Given the description of an element on the screen output the (x, y) to click on. 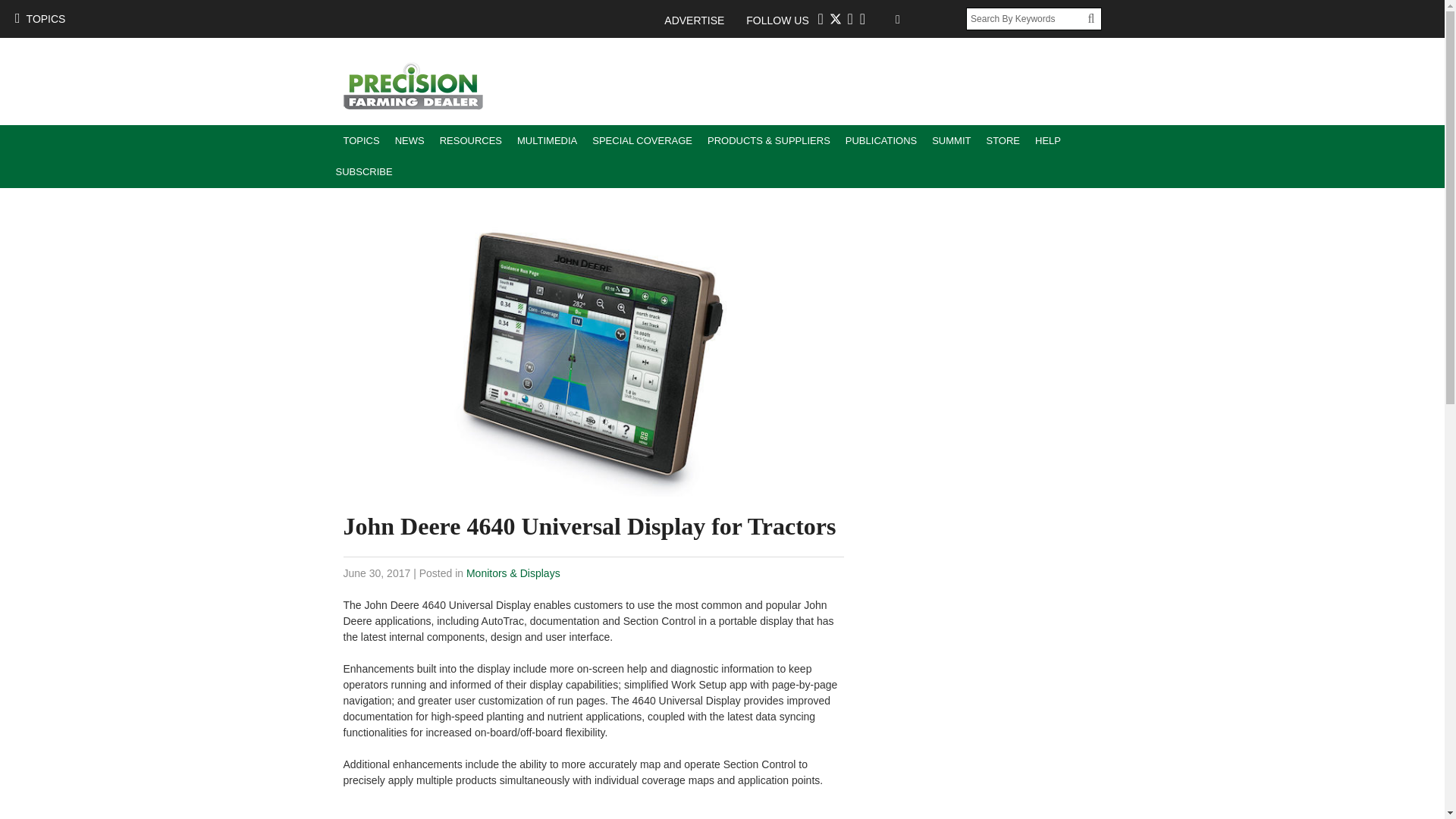
TOPICS (39, 18)
Search By Keywords (1026, 18)
Search By Keywords (1026, 18)
TOPICS (360, 140)
NEWS (409, 140)
ADVERTISE (701, 20)
